Given the description of an element on the screen output the (x, y) to click on. 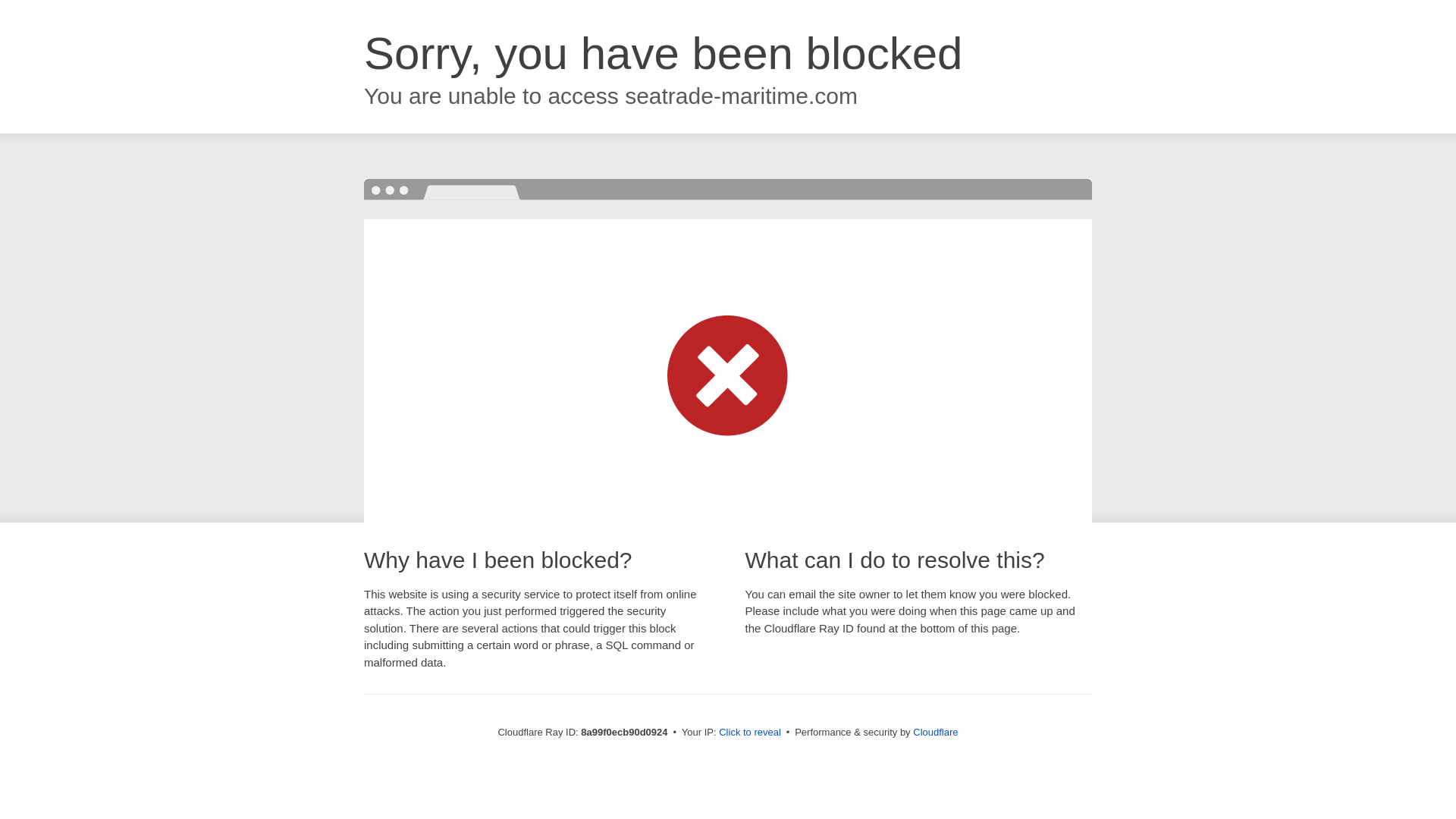
Cloudflare (935, 731)
Click to reveal (749, 732)
